Given the description of an element on the screen output the (x, y) to click on. 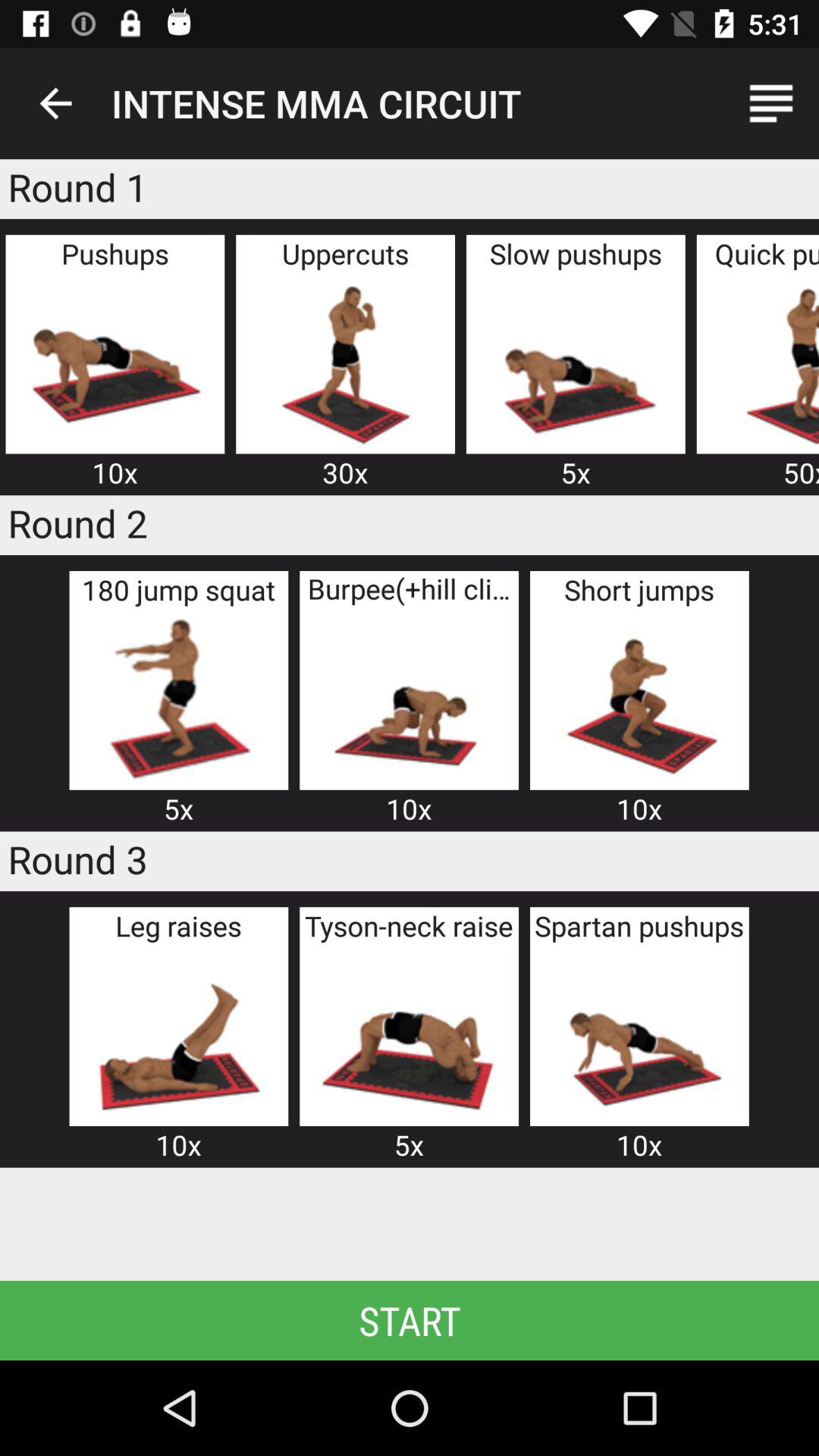
select slow pushups (575, 362)
